Given the description of an element on the screen output the (x, y) to click on. 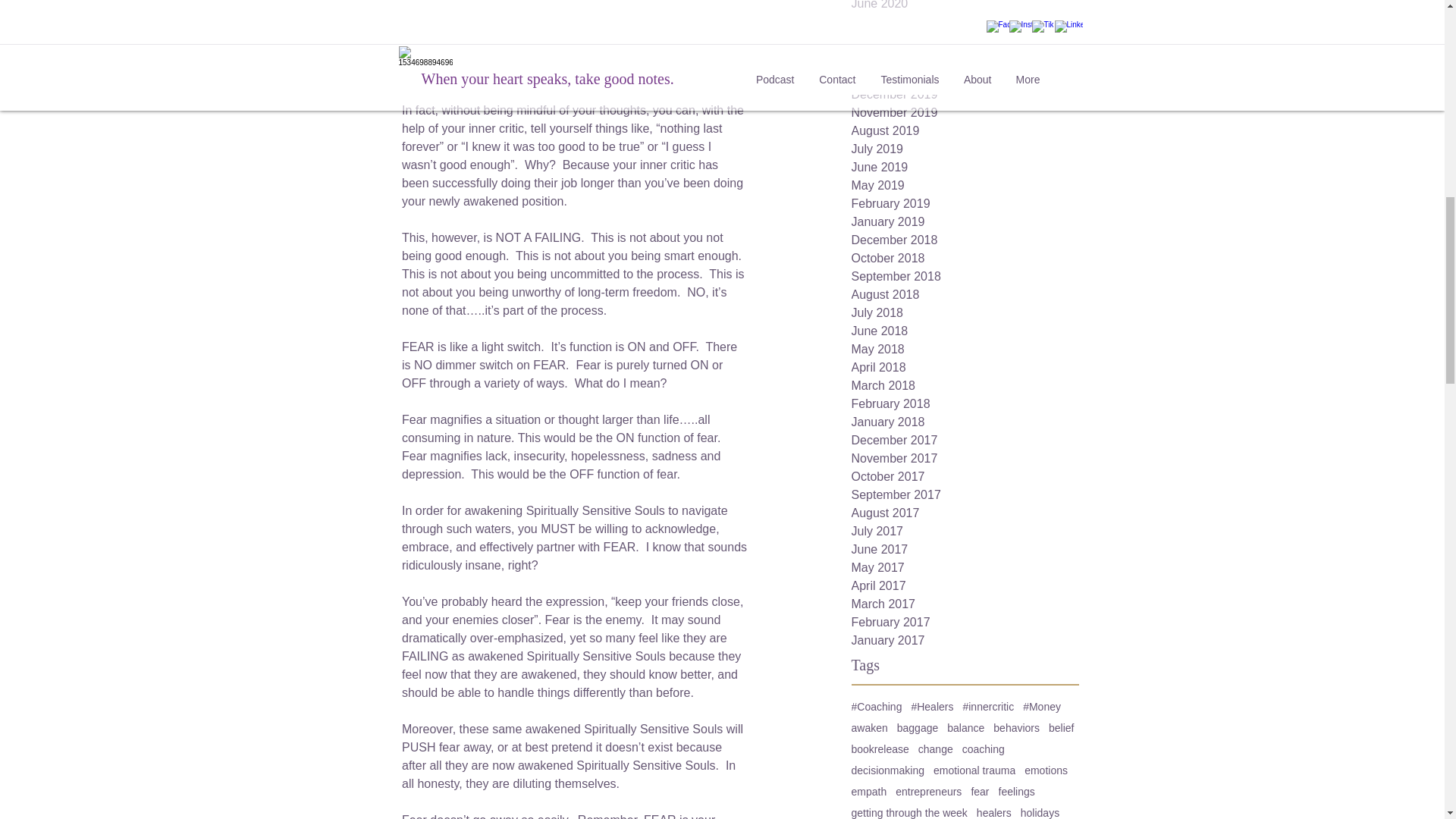
July 2019 (964, 149)
June 2019 (964, 167)
November 2019 (964, 113)
December 2019 (964, 94)
June 2020 (964, 6)
May 2020 (964, 22)
April 2020 (964, 40)
March 2020 (964, 58)
August 2019 (964, 131)
January 2020 (964, 76)
May 2019 (964, 185)
